Given the description of an element on the screen output the (x, y) to click on. 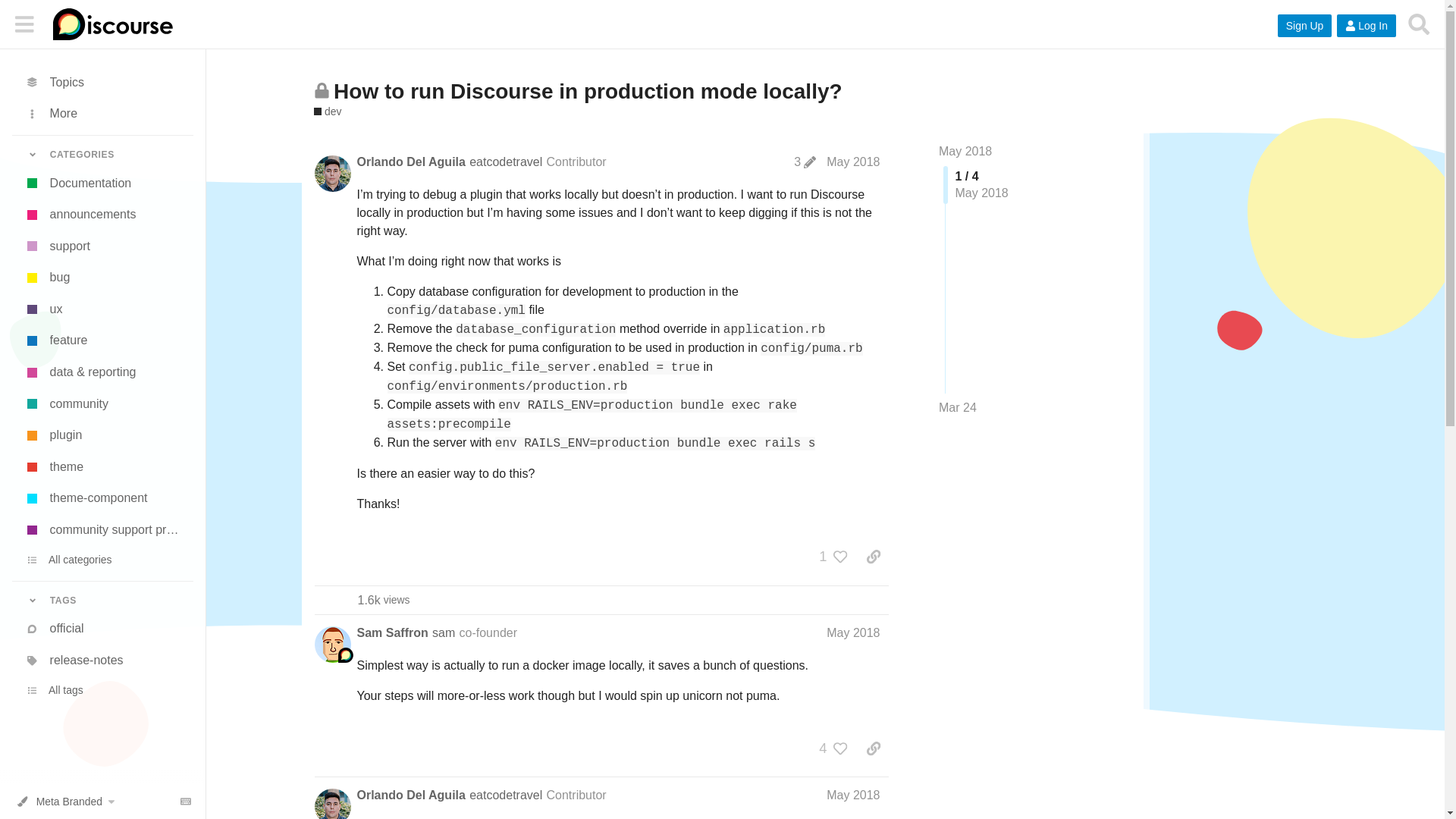
plugin (102, 436)
Topics (102, 82)
support (102, 246)
All categories (102, 560)
CATEGORIES (102, 154)
dev (328, 111)
All topics (102, 82)
Documentation (102, 183)
